Given the description of an element on the screen output the (x, y) to click on. 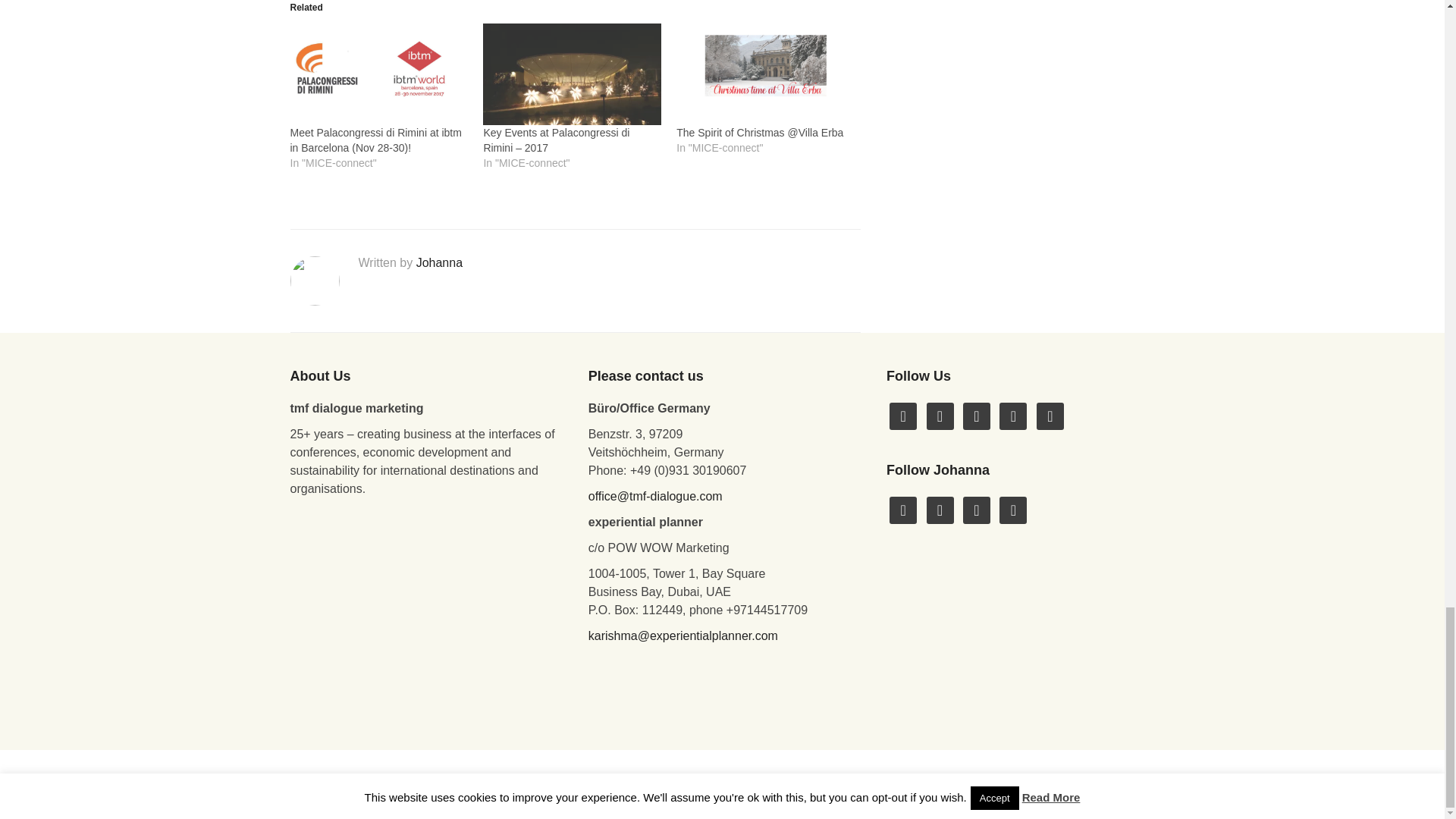
Johanna (439, 262)
Friend me on Facebook (903, 414)
Follow Me (939, 414)
Posts by Johanna (439, 262)
facebook (903, 414)
